Given the description of an element on the screen output the (x, y) to click on. 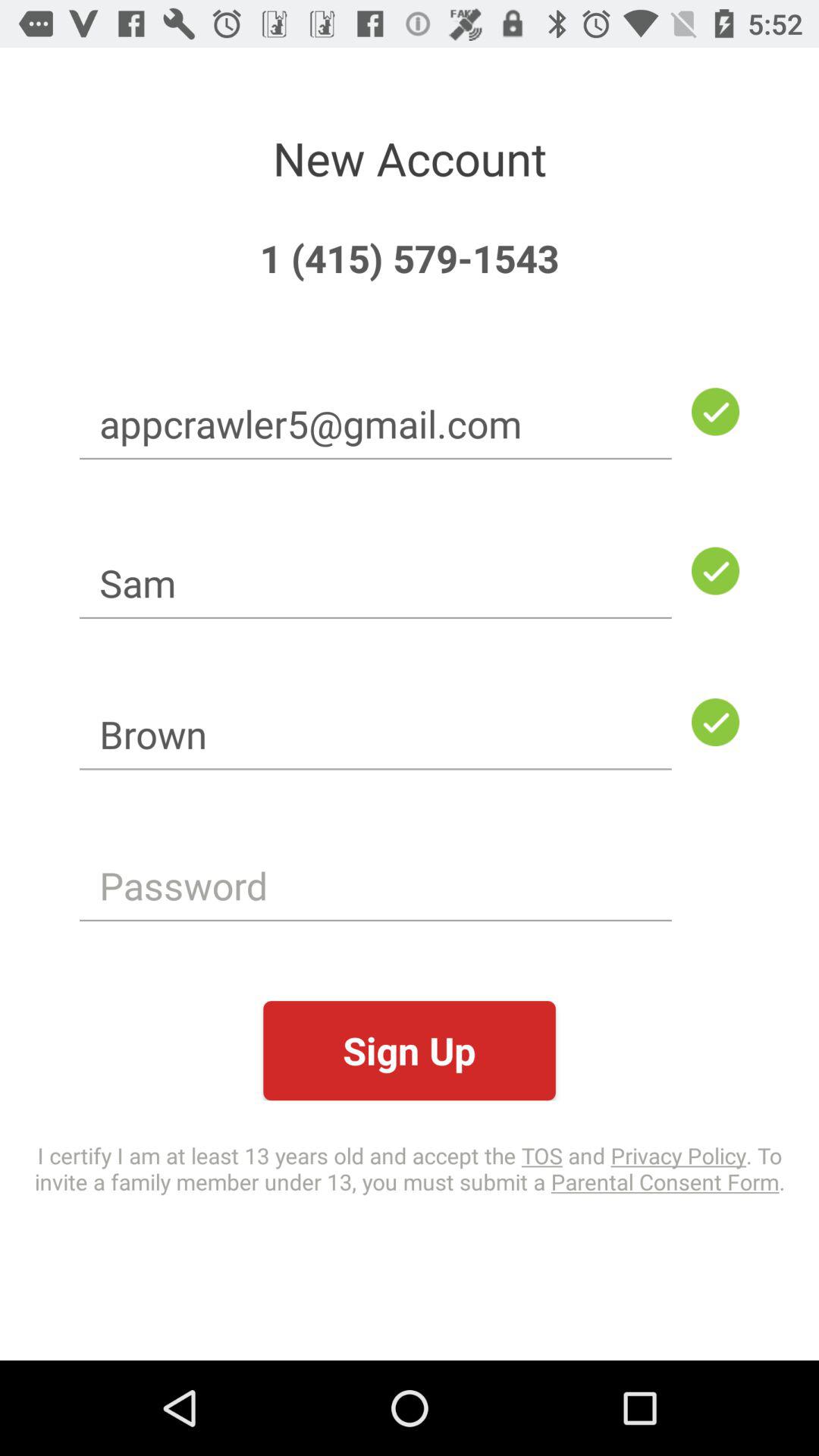
scroll to sign up icon (409, 1050)
